Given the description of an element on the screen output the (x, y) to click on. 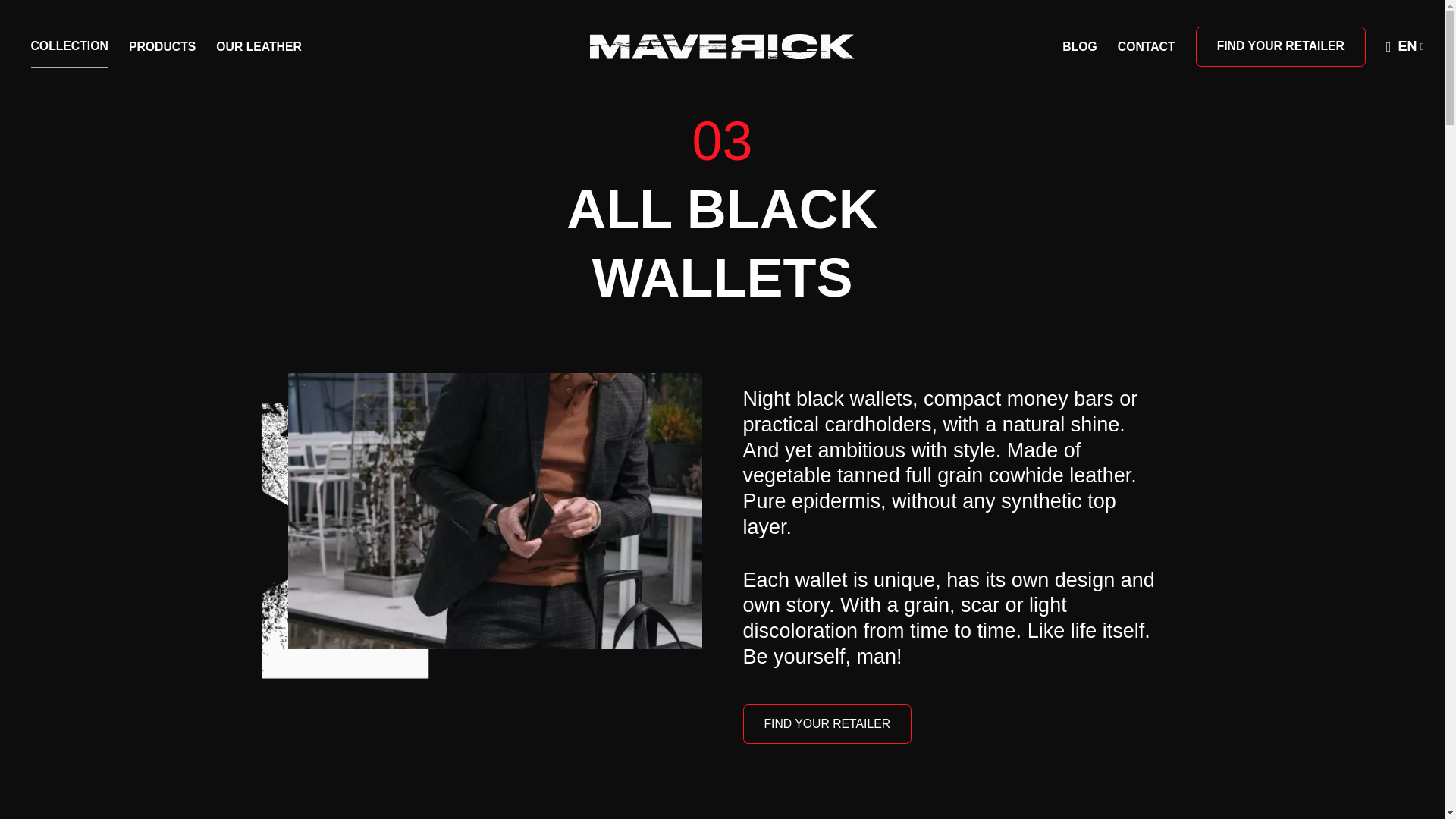
FIND YOUR RETAILER (827, 723)
FIND YOUR RETAILER (1280, 46)
Products (162, 46)
Our leather (258, 46)
COLLECTION (68, 46)
Contact (1146, 46)
OUR LEATHER (258, 46)
PRODUCTS (162, 46)
CONTACT (1146, 46)
Collection (68, 46)
Find your retailer (1280, 46)
